Given the description of an element on the screen output the (x, y) to click on. 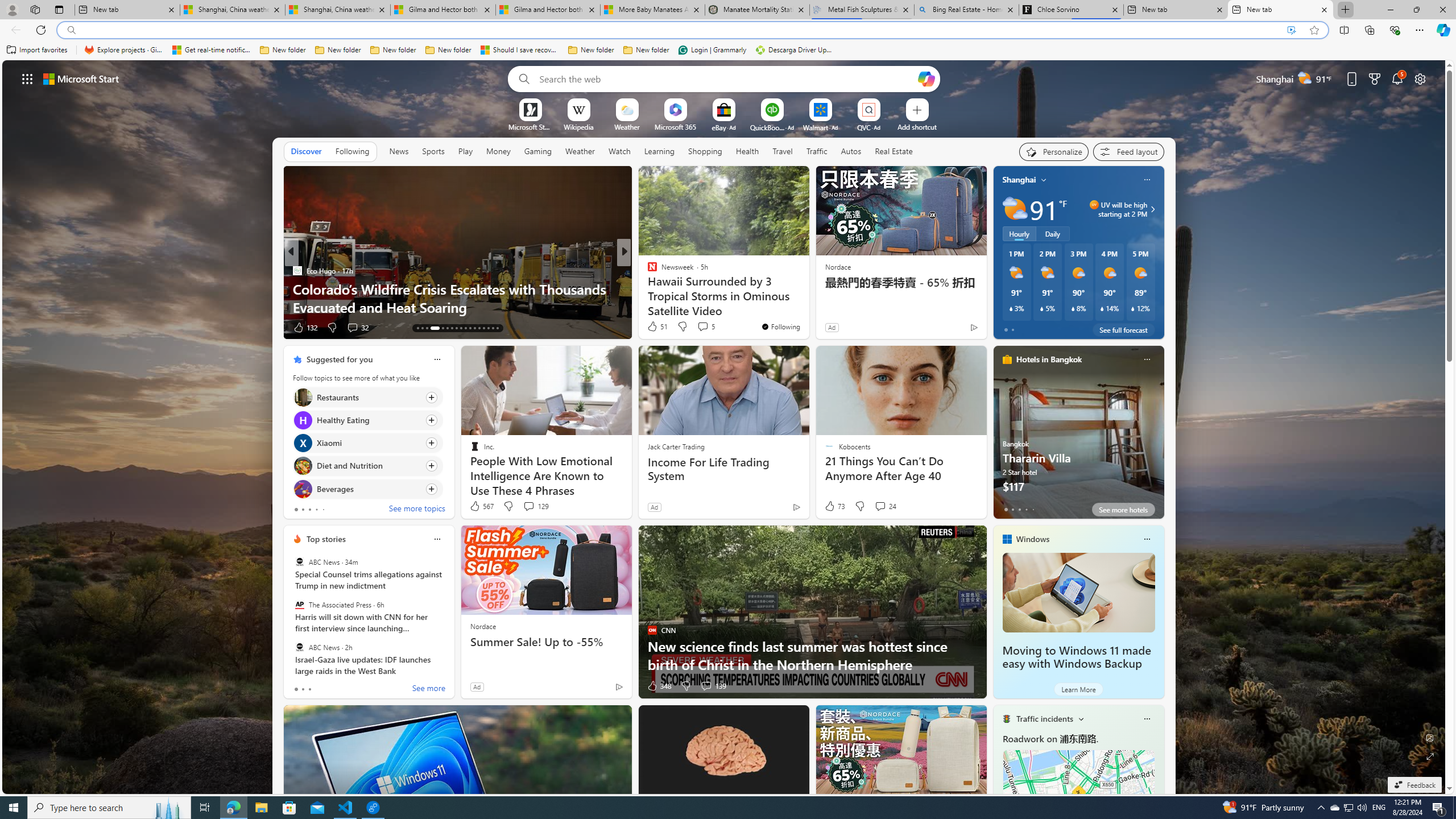
Shanghai (1018, 179)
Bing Real Estate - Home sales and rental listings (966, 9)
AutomationID: tab-30 (483, 328)
96 Like (652, 327)
38 Like (652, 327)
Click to follow topic Xiaomi (367, 442)
Partly sunny (1014, 208)
tab-4 (1032, 509)
Income For Life Trading System (723, 469)
AutomationID: tab-29 (478, 328)
